Given the description of an element on the screen output the (x, y) to click on. 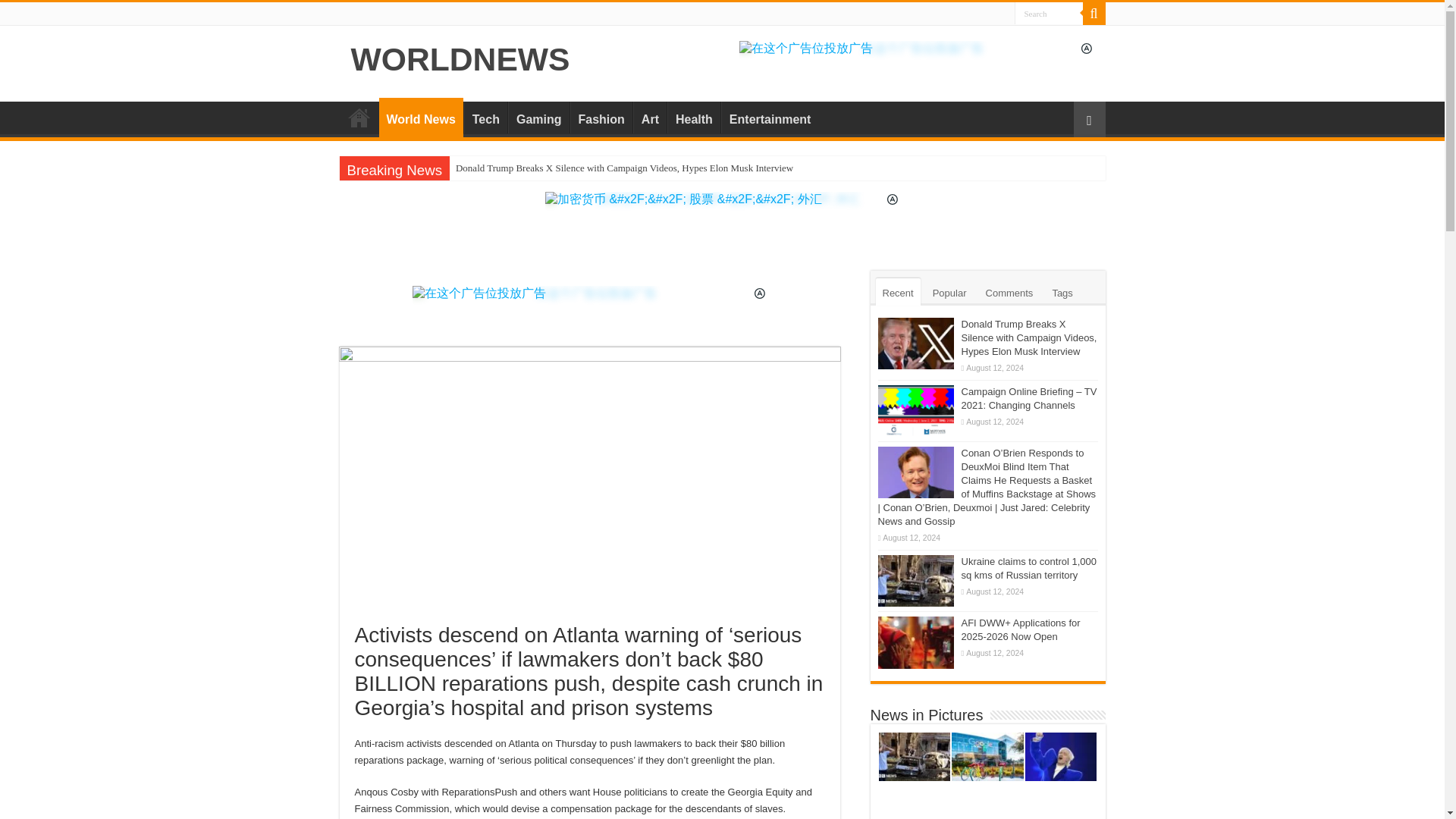
Search (1048, 13)
Fashion (600, 117)
Recent (897, 291)
Search (1048, 13)
Search (1094, 13)
Art (649, 117)
Popular (950, 291)
Home (358, 117)
Tech (485, 117)
